Given the description of an element on the screen output the (x, y) to click on. 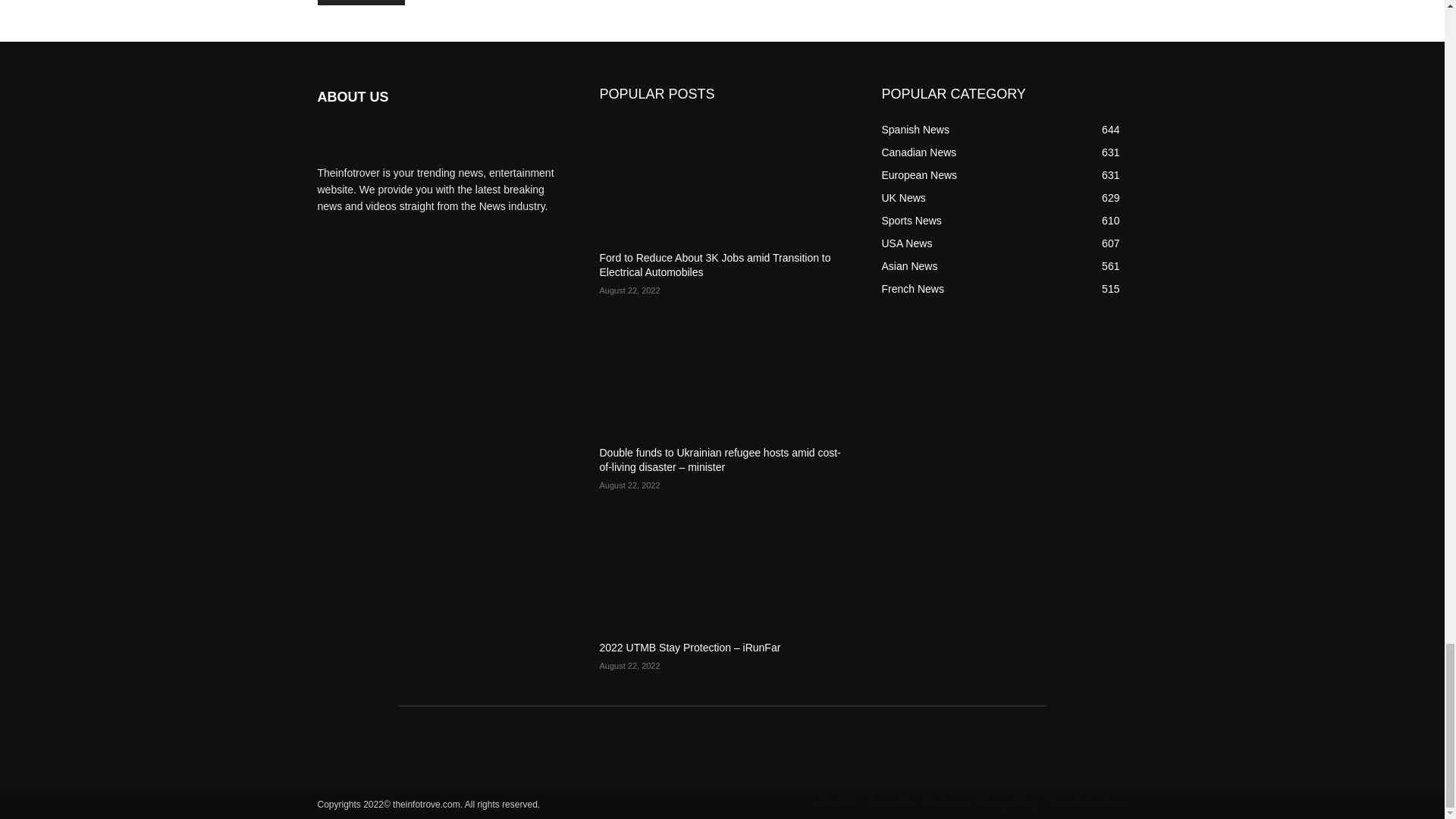
Post Comment (360, 2)
